Given the description of an element on the screen output the (x, y) to click on. 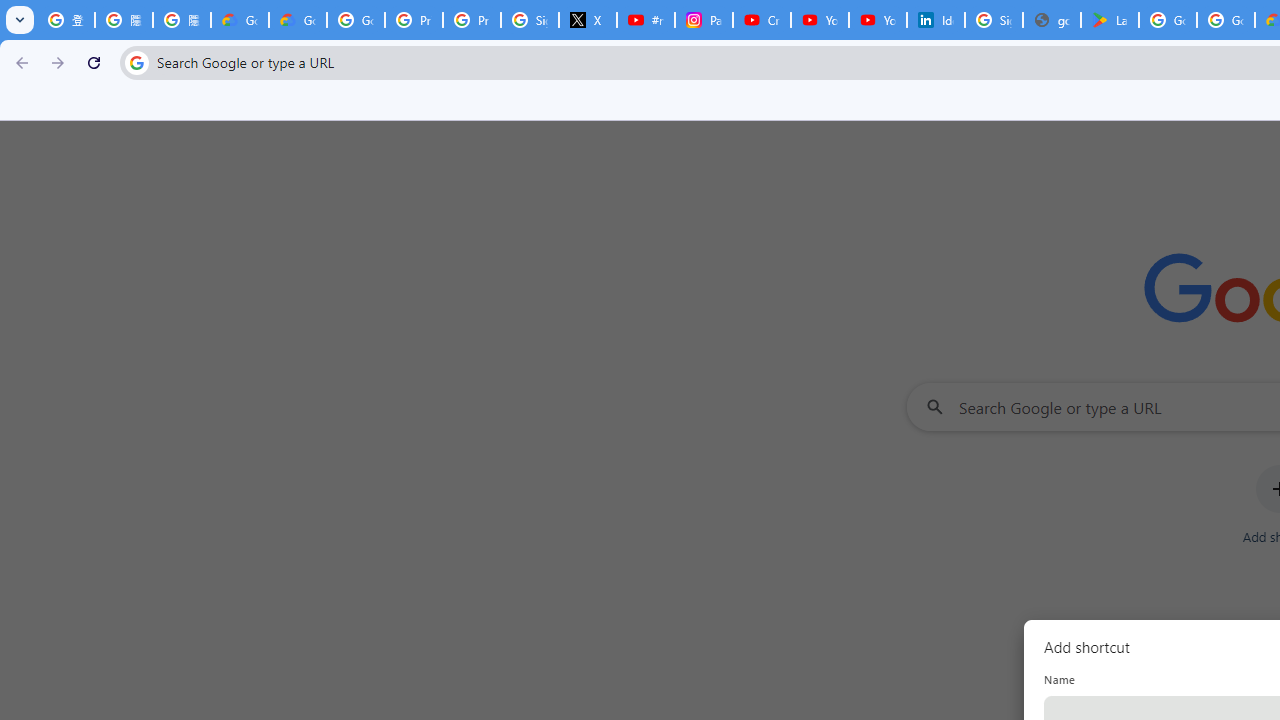
google_privacy_policy_en.pdf (1051, 20)
System (10, 11)
#nbabasketballhighlights - YouTube (645, 20)
Privacy Help Center - Policies Help (471, 20)
System (10, 11)
Google Cloud Privacy Notice (239, 20)
Back (19, 62)
Search icon (136, 62)
Sign in - Google Accounts (993, 20)
Sign in - Google Accounts (529, 20)
Forward (57, 62)
